Given the description of an element on the screen output the (x, y) to click on. 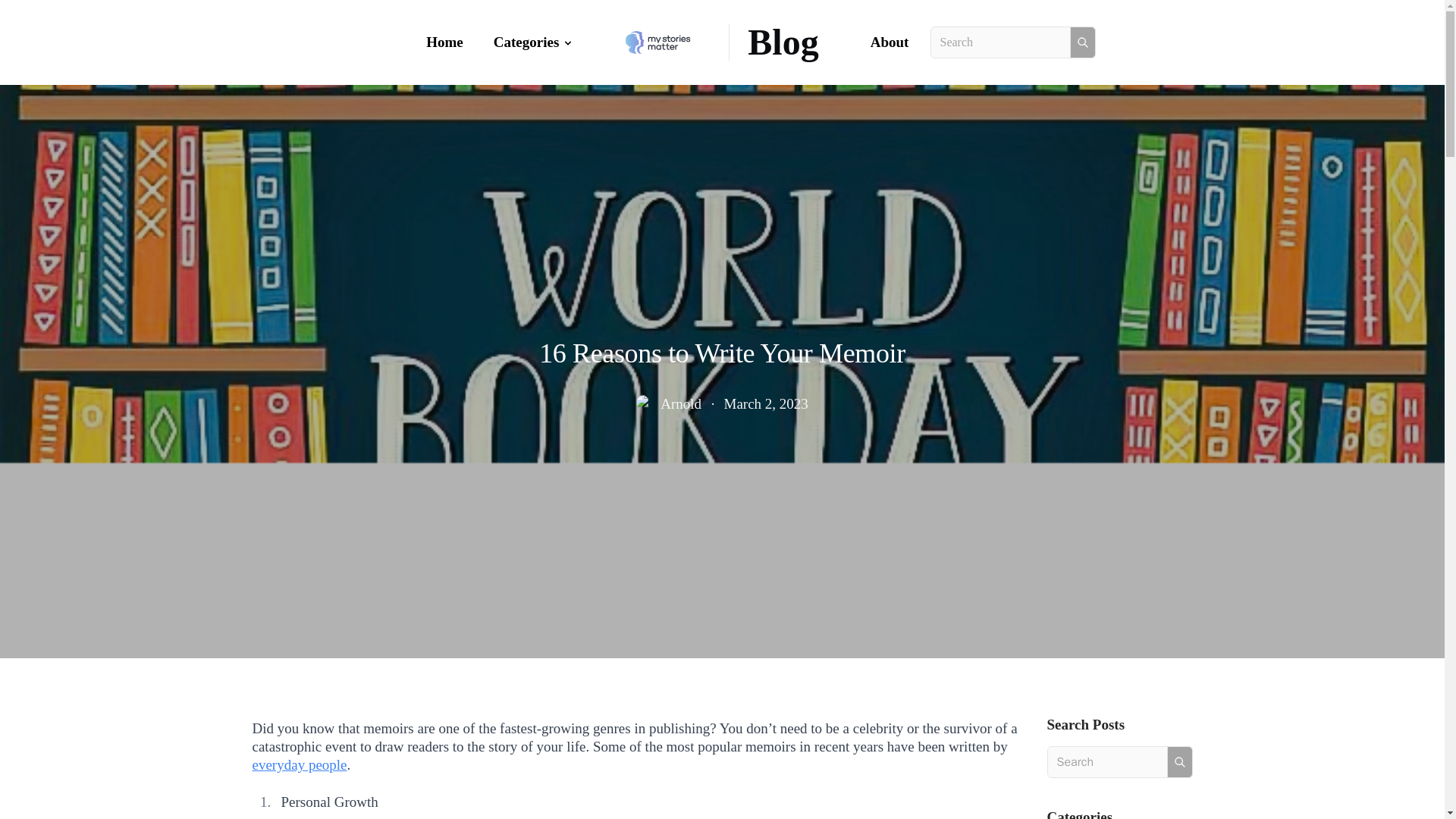
About (890, 42)
Arnold (681, 403)
everyday people (298, 764)
Home (444, 42)
Categories (534, 42)
everyday people (298, 764)
